Given the description of an element on the screen output the (x, y) to click on. 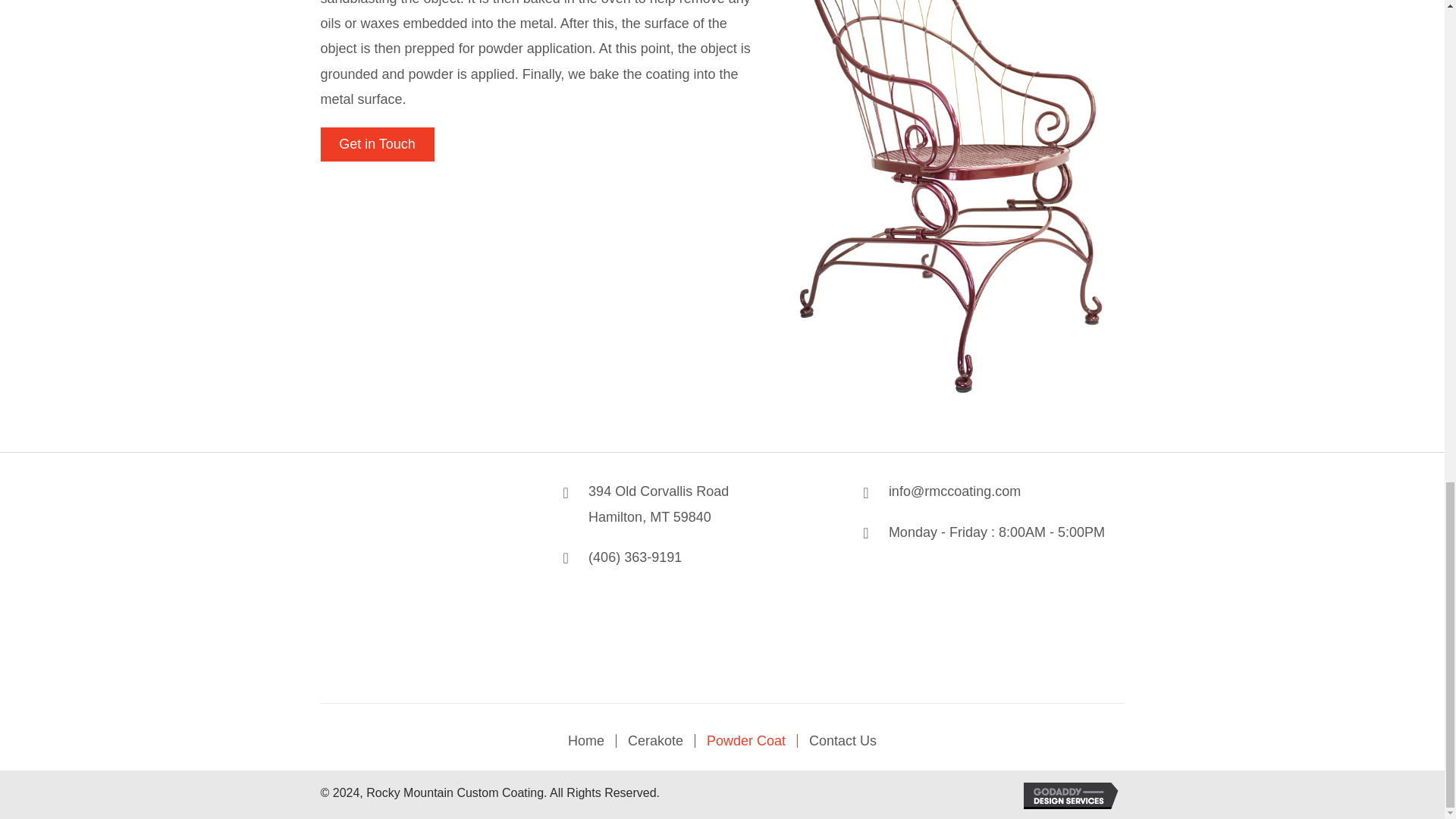
Cerakote (655, 740)
Rocky Mountain Custom Coating (412, 579)
Powder Coat (746, 740)
Contact Us (842, 740)
Home (585, 740)
Get in Touch (658, 504)
